Given the description of an element on the screen output the (x, y) to click on. 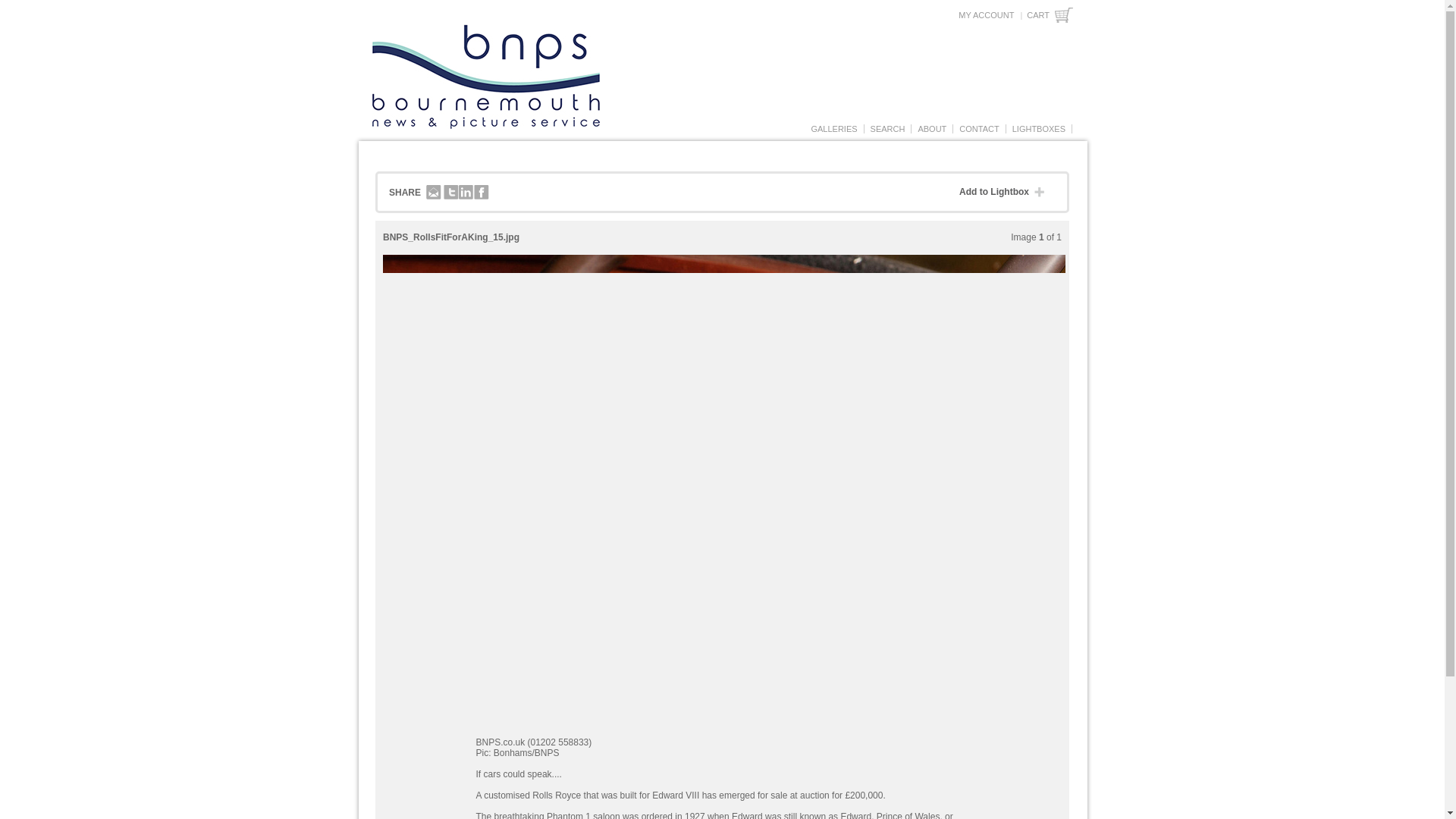
CART (1049, 14)
Contact (979, 128)
Galleries (833, 128)
MY ACCOUNT (986, 15)
CONTACT (979, 128)
Cart (1049, 14)
About (932, 128)
Search (887, 128)
GALLERIES (833, 128)
ABOUT (932, 128)
Email to a Friend (433, 192)
Add to Lightbox (1005, 192)
LIGHTBOXES (1038, 128)
SEARCH (887, 128)
My Account (986, 15)
